Given the description of an element on the screen output the (x, y) to click on. 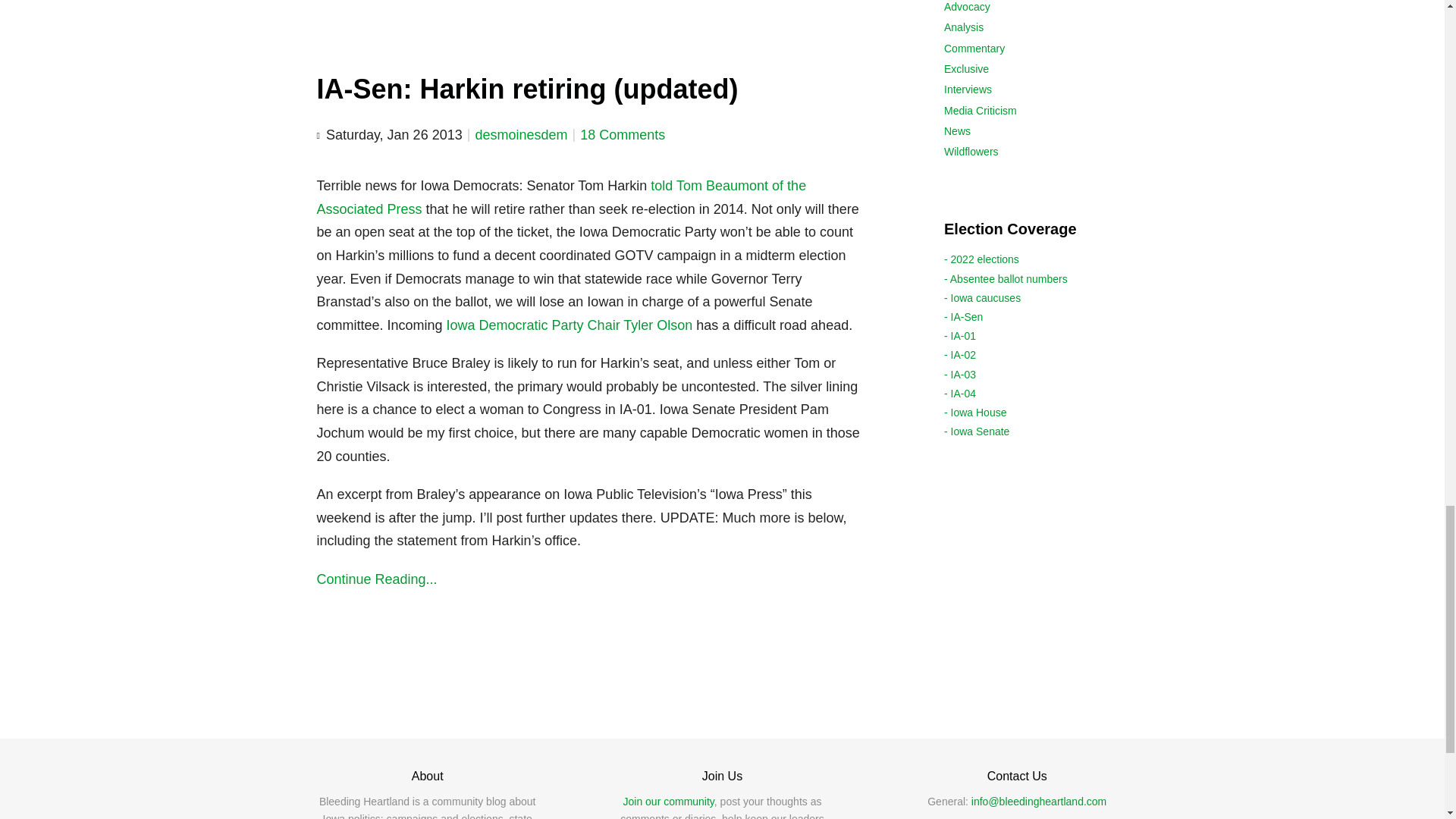
comments (622, 134)
desmoinesdem (520, 134)
Iowa Democratic Party Chair Tyler Olson (569, 324)
18 Comments (622, 134)
told Tom Beaumont of the Associated Press (561, 197)
Continue Reading... (593, 579)
